Given the description of an element on the screen output the (x, y) to click on. 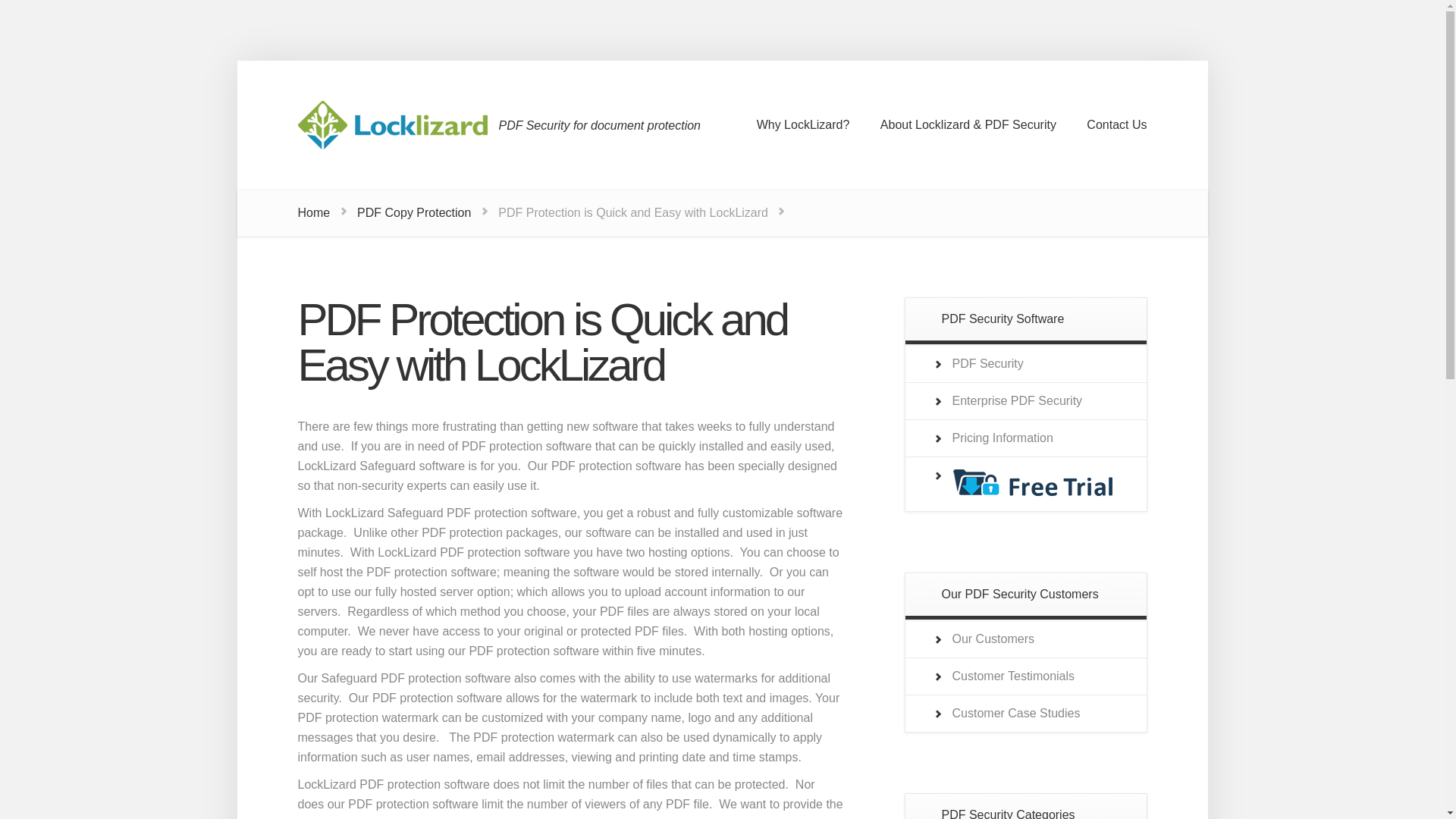
Home (313, 212)
PDF Security (987, 363)
PDF Copy Protection (413, 212)
Pricing Information (1002, 437)
FREE 15 day evaluation (1032, 492)
Customer Testimonials (1013, 675)
Customer Case Studies (1016, 712)
Our Customers (992, 638)
Enterprise PDF Security (1017, 400)
Contact Us (1116, 124)
